Given the description of an element on the screen output the (x, y) to click on. 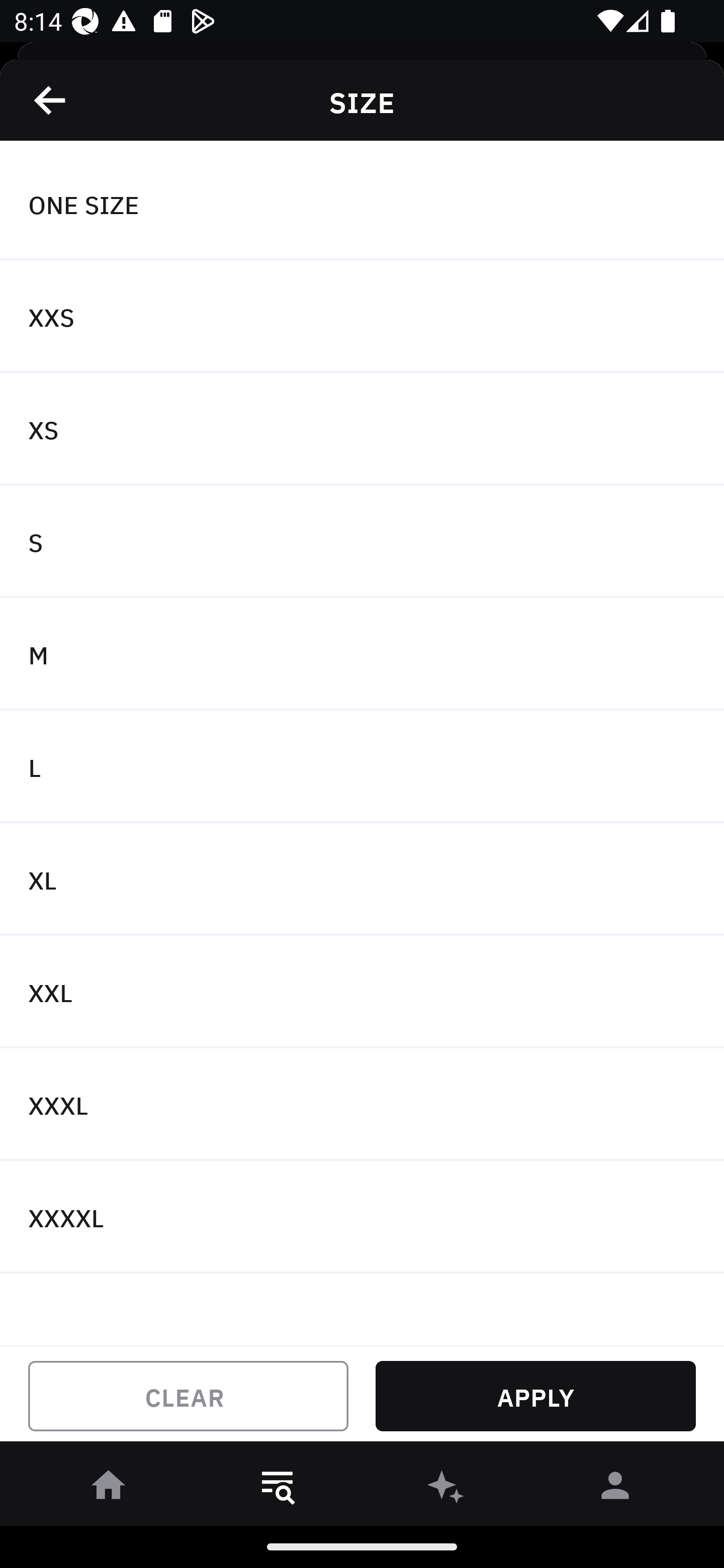
 (50, 100)
ONE SIZE (362, 203)
XXS (362, 316)
XS (362, 429)
S (362, 541)
M (362, 653)
L (362, 766)
XL (362, 879)
XXL (362, 992)
XXXL (362, 1104)
XXXXL (362, 1216)
CLEAR  (188, 1396)
APPLY (535, 1396)
󰋜 (108, 1488)
󱎸 (277, 1488)
󰫢 (446, 1488)
󰀄 (615, 1488)
